Given the description of an element on the screen output the (x, y) to click on. 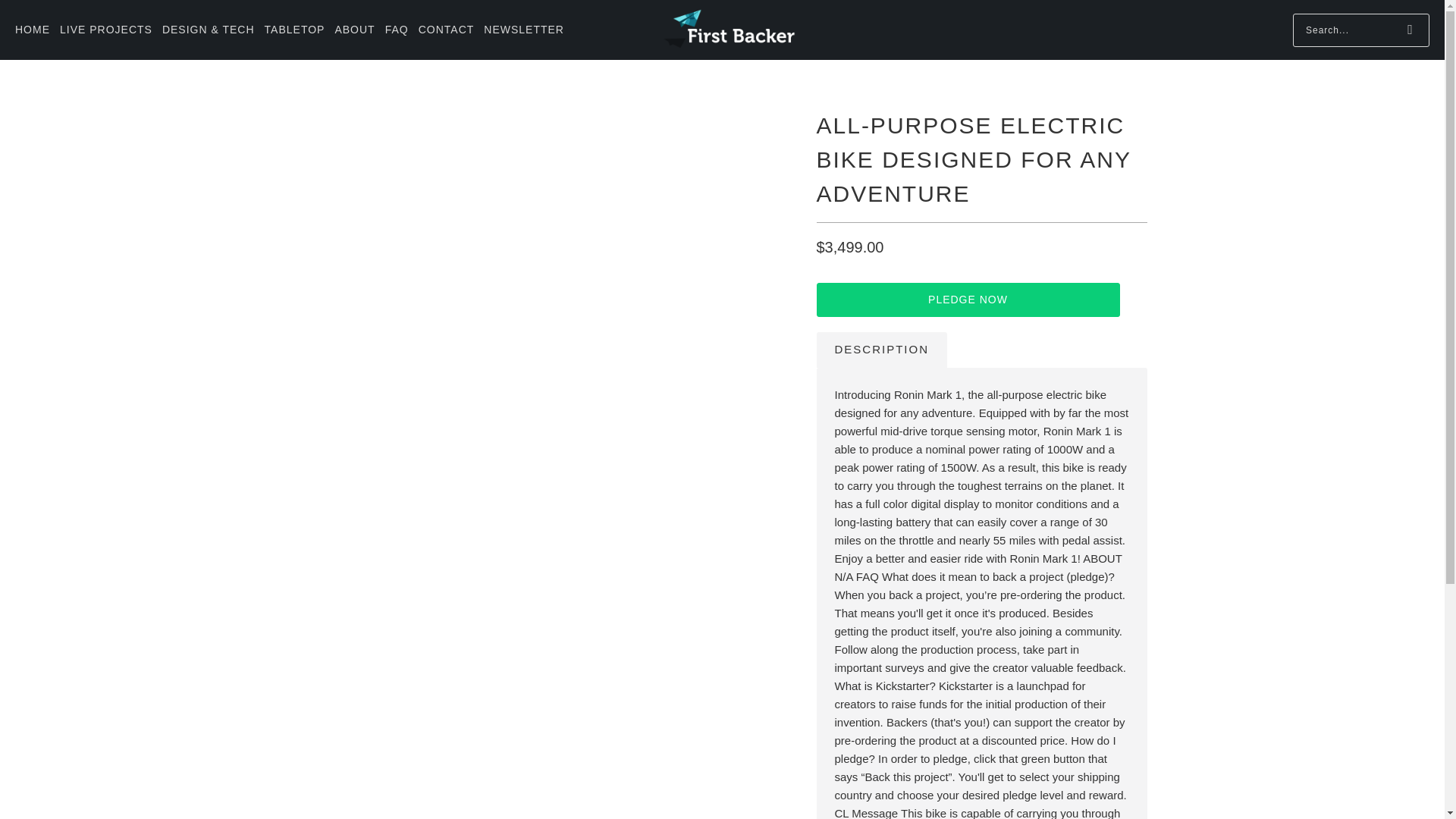
PLEDGE NOW (967, 299)
NEWSLETTER (523, 29)
LIVE PROJECTS (105, 29)
First Backer (728, 29)
ABOUT (354, 29)
HOME (31, 29)
TABLETOP (294, 29)
CONTACT (446, 29)
